Given the description of an element on the screen output the (x, y) to click on. 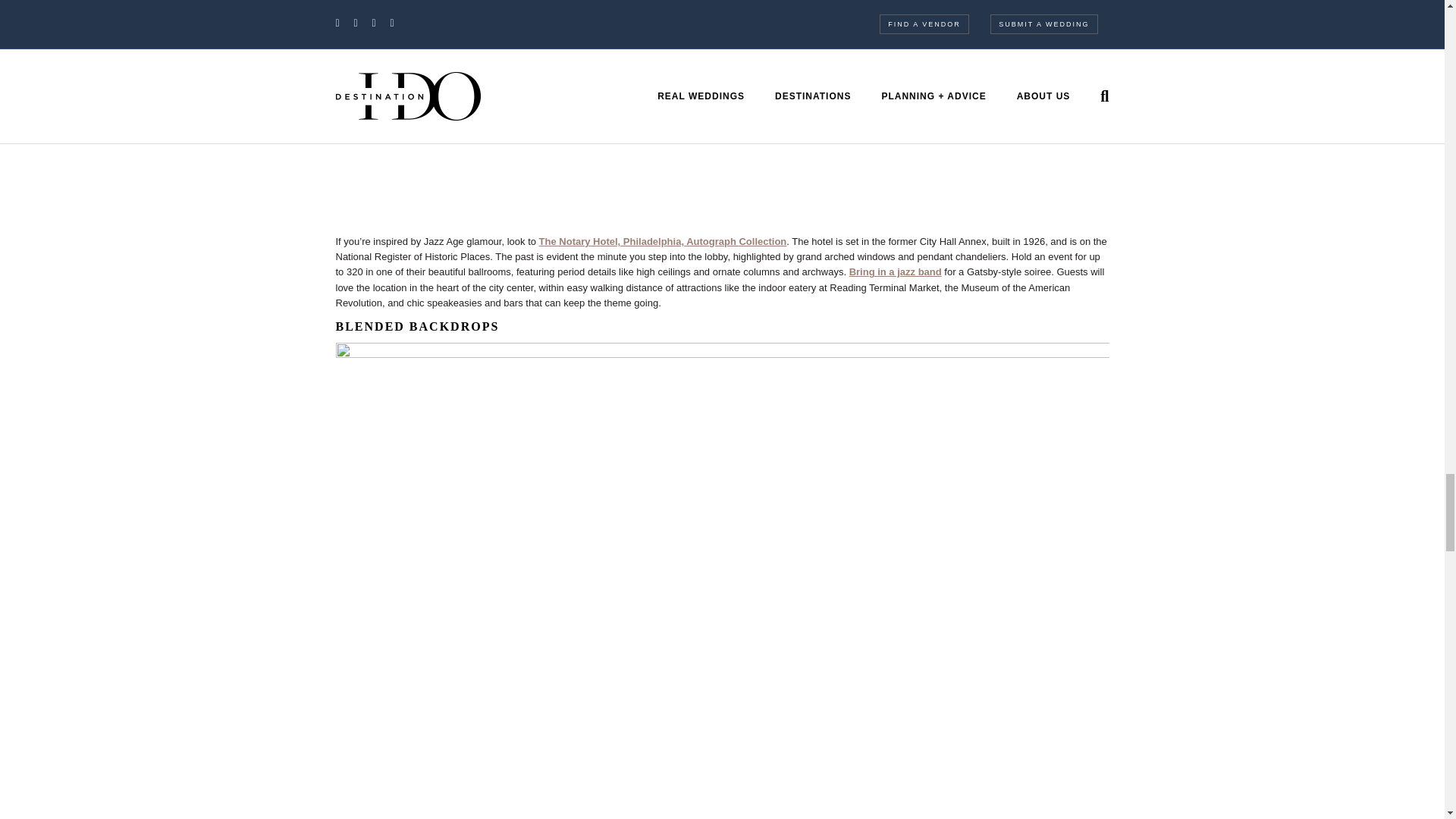
The Notary Hotel, Philadelphia, Autograph Collection (662, 241)
Bring in a jazz band (895, 271)
